Given the description of an element on the screen output the (x, y) to click on. 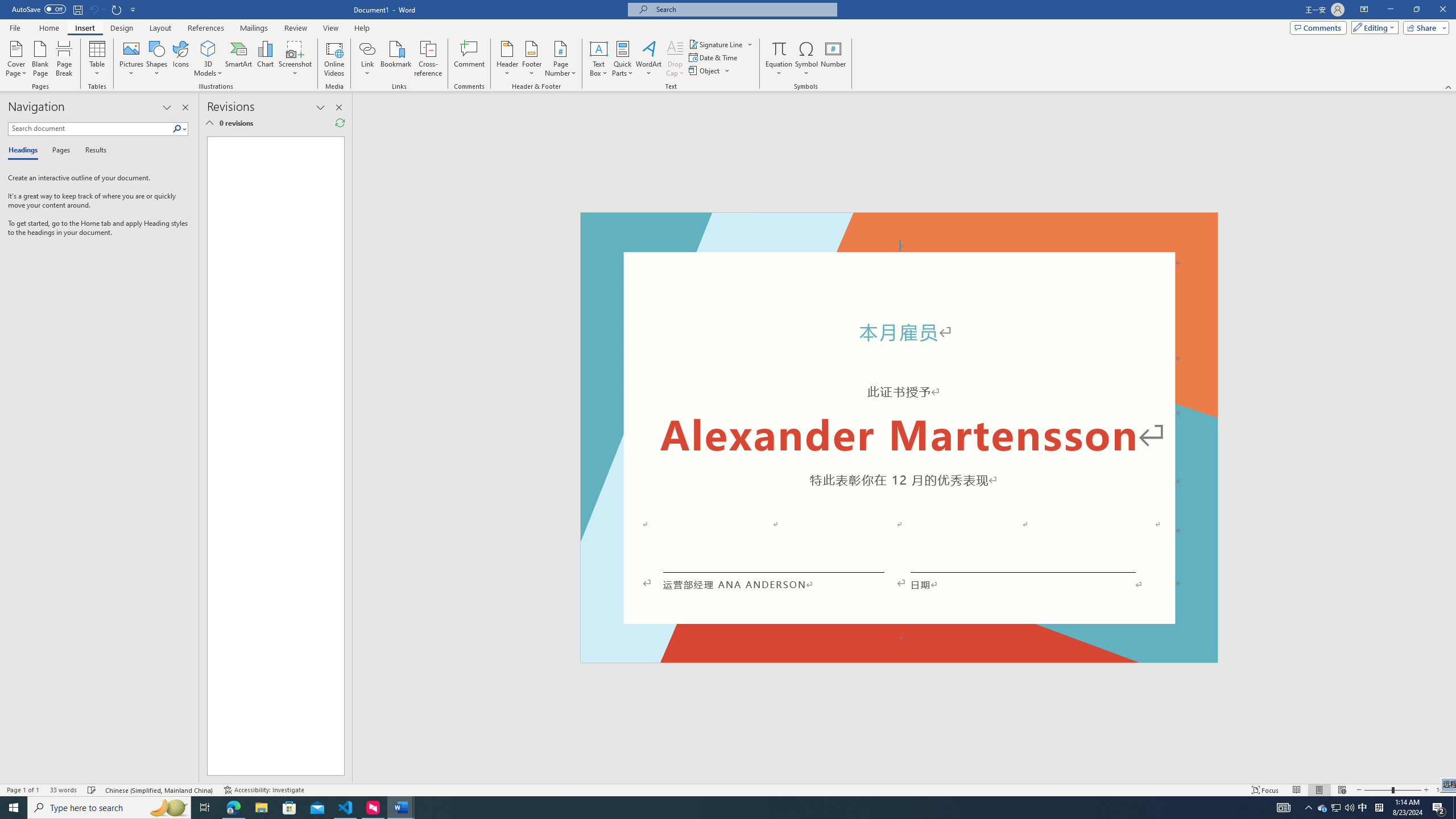
Refresh Reviewing Pane (339, 122)
Icons (180, 58)
Blank Page (40, 58)
Cross-reference... (428, 58)
Chart... (265, 58)
Table (97, 58)
